Given the description of an element on the screen output the (x, y) to click on. 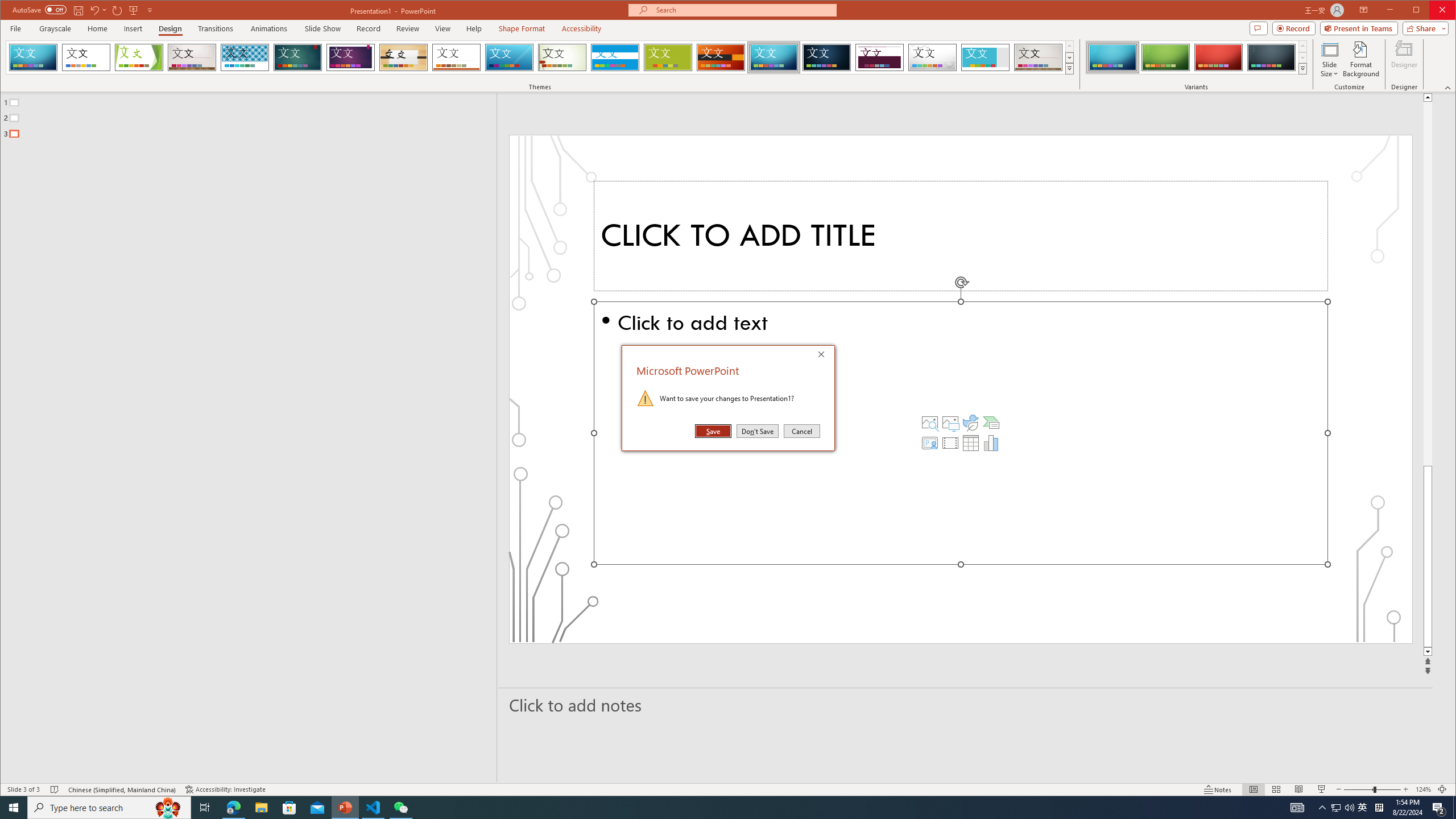
Search highlights icon opens search home window (167, 807)
Integral (244, 57)
Variants (1302, 68)
Banded (615, 57)
AutomationID: 4105 (1297, 807)
Circuit Variant 3 (1218, 57)
Gallery (1037, 57)
Microsoft Edge - 1 running window (233, 807)
Circuit Variant 1 (1112, 57)
